Given the description of an element on the screen output the (x, y) to click on. 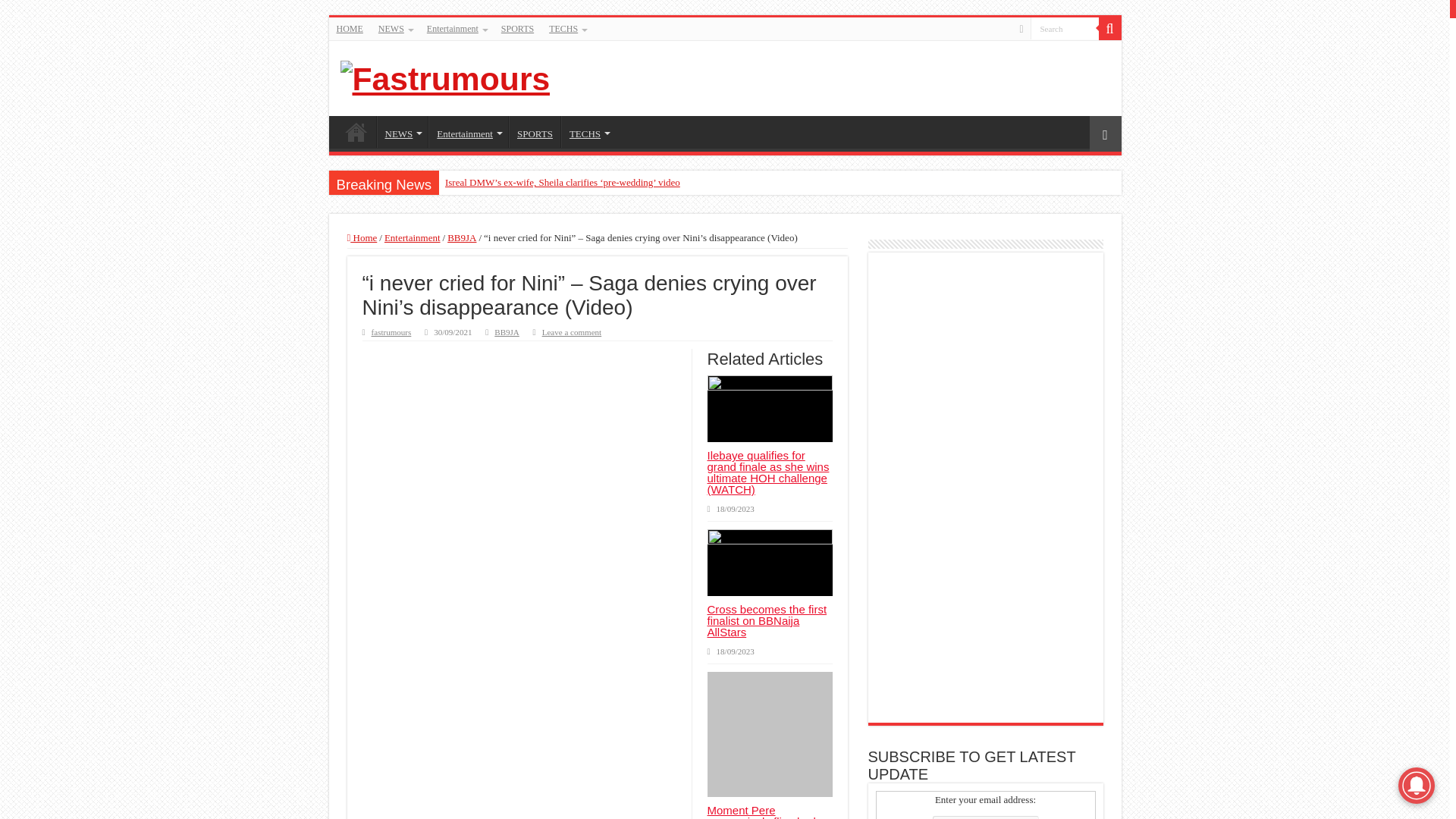
SPORTS (517, 28)
SPORTS (534, 132)
TECHS (566, 28)
HOME (355, 132)
HOME (350, 28)
Search (1109, 28)
NEWS (395, 28)
Entertainment (468, 132)
Search (1063, 28)
Fastrumours (444, 76)
Search (1063, 28)
NEWS (401, 132)
Entertainment (456, 28)
TECHS (587, 132)
Search (1063, 28)
